Given the description of an element on the screen output the (x, y) to click on. 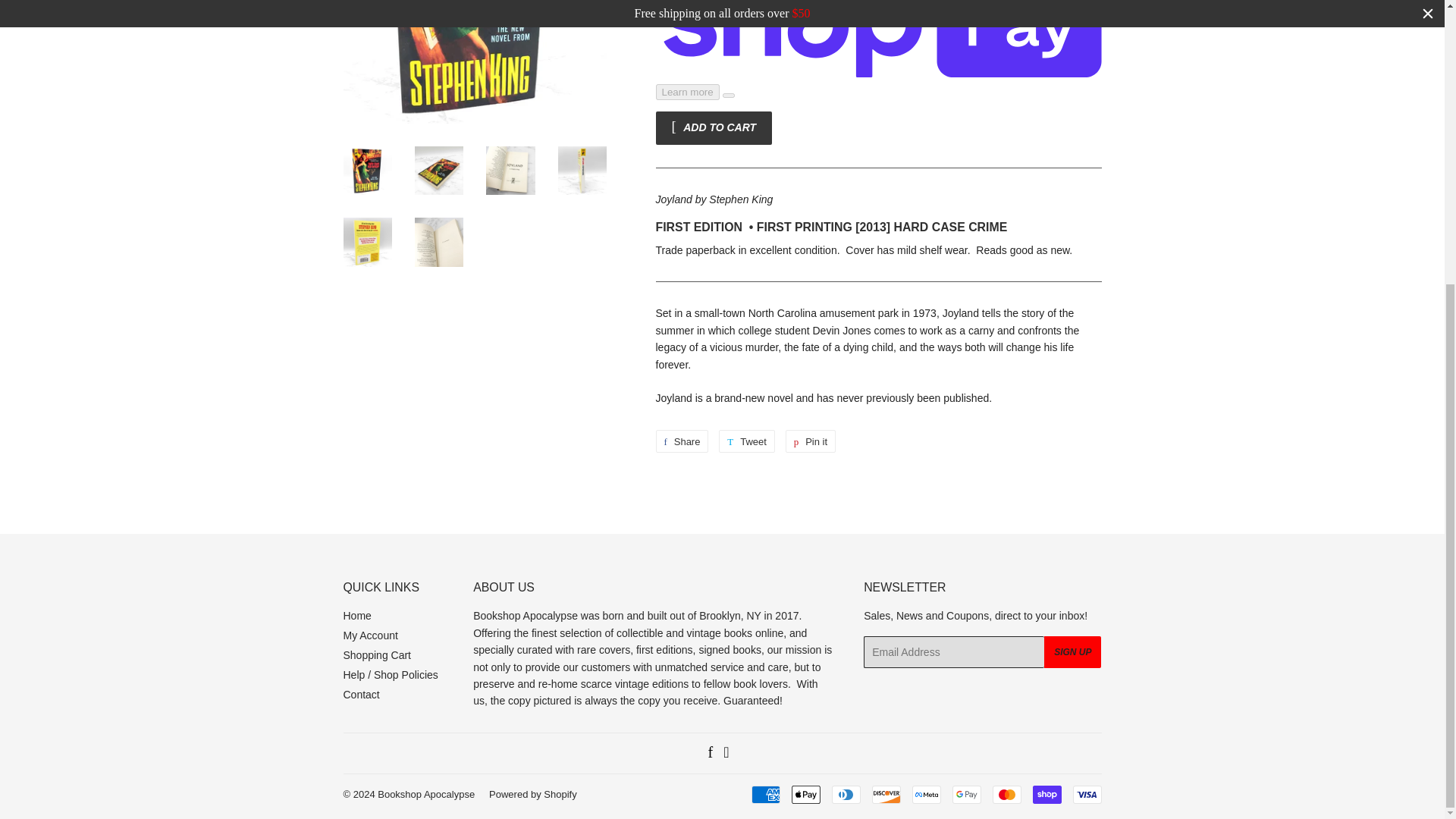
American Express (764, 794)
Tweet on Twitter (746, 440)
Diners Club (845, 794)
Share on Facebook (681, 440)
Visa (1085, 794)
Mastercard (1005, 794)
Discover (886, 794)
Meta Pay (925, 794)
Google Pay (966, 794)
Shop Pay (1046, 794)
